Given the description of an element on the screen output the (x, y) to click on. 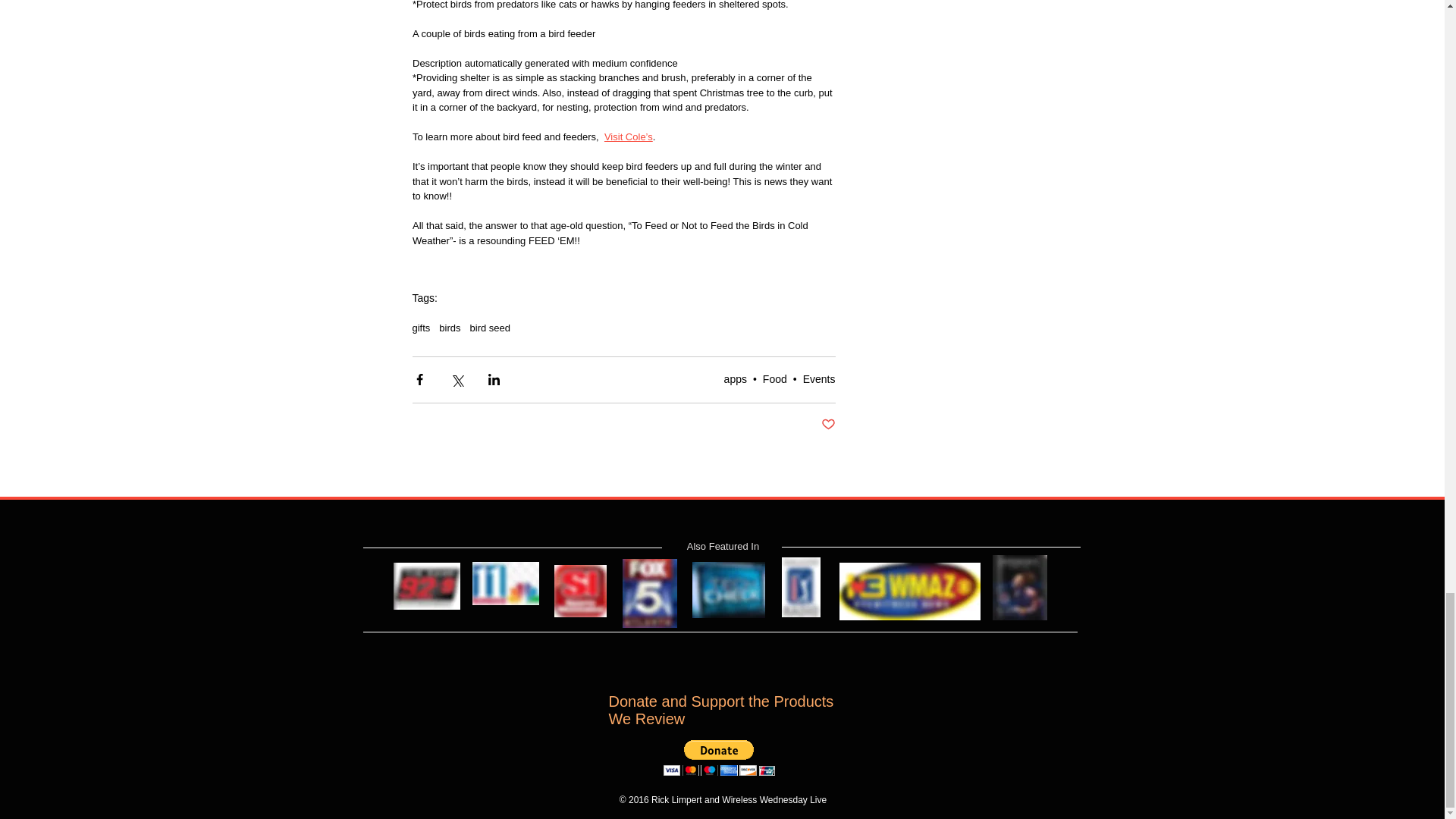
birds (449, 327)
WWL17.jpg (908, 591)
Post not marked as liked (827, 424)
WWL12.jpg (504, 583)
Events (819, 378)
bird seed (490, 327)
WWL13.jpg (579, 591)
WWL15.jpg (727, 589)
Food (774, 378)
gifts (421, 327)
apps (734, 378)
sam crenshaw3.jpg (426, 586)
